Given the description of an element on the screen output the (x, y) to click on. 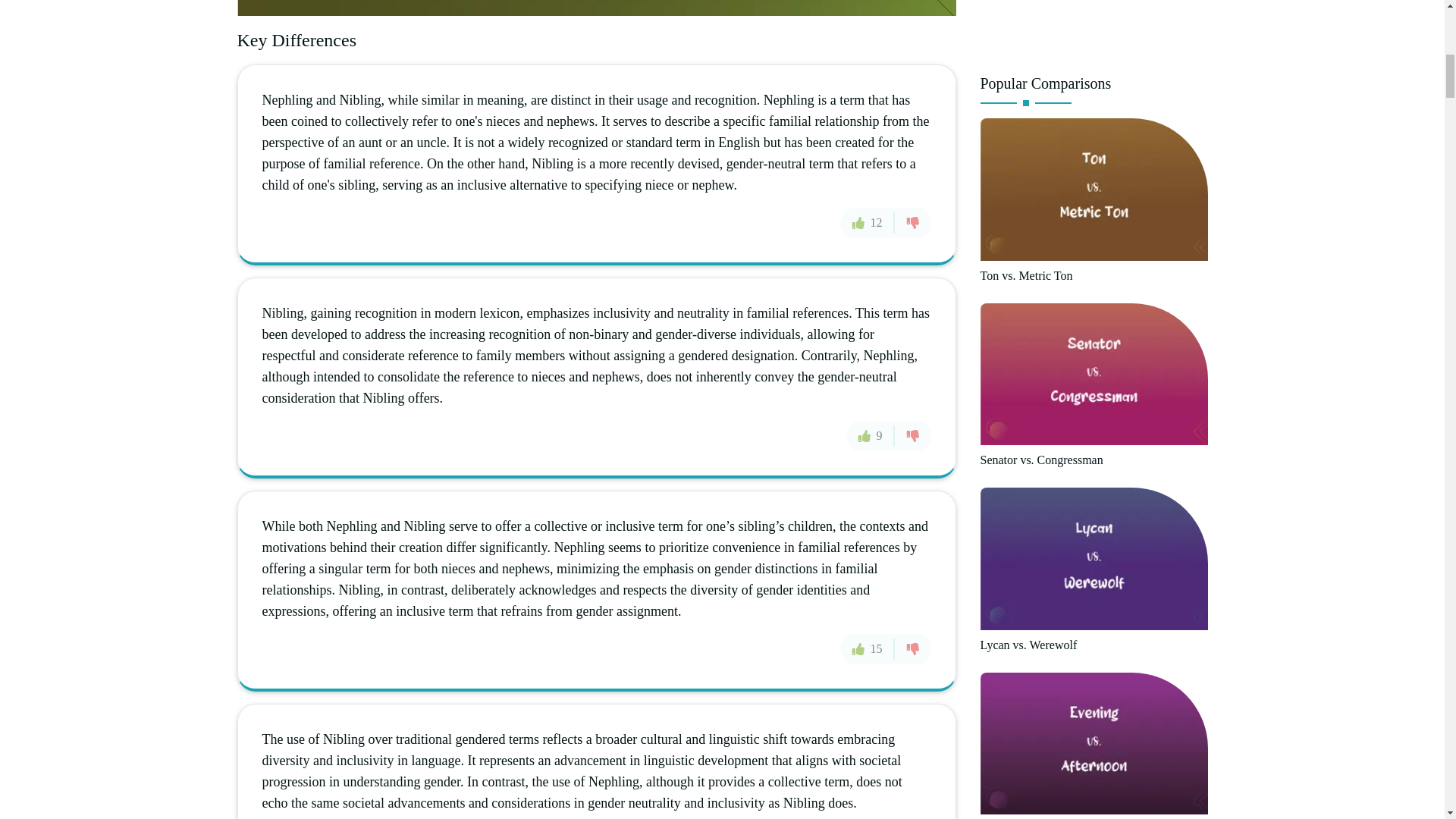
12 (867, 223)
9 (870, 435)
Advertisement (1093, 30)
15 (867, 648)
